Given the description of an element on the screen output the (x, y) to click on. 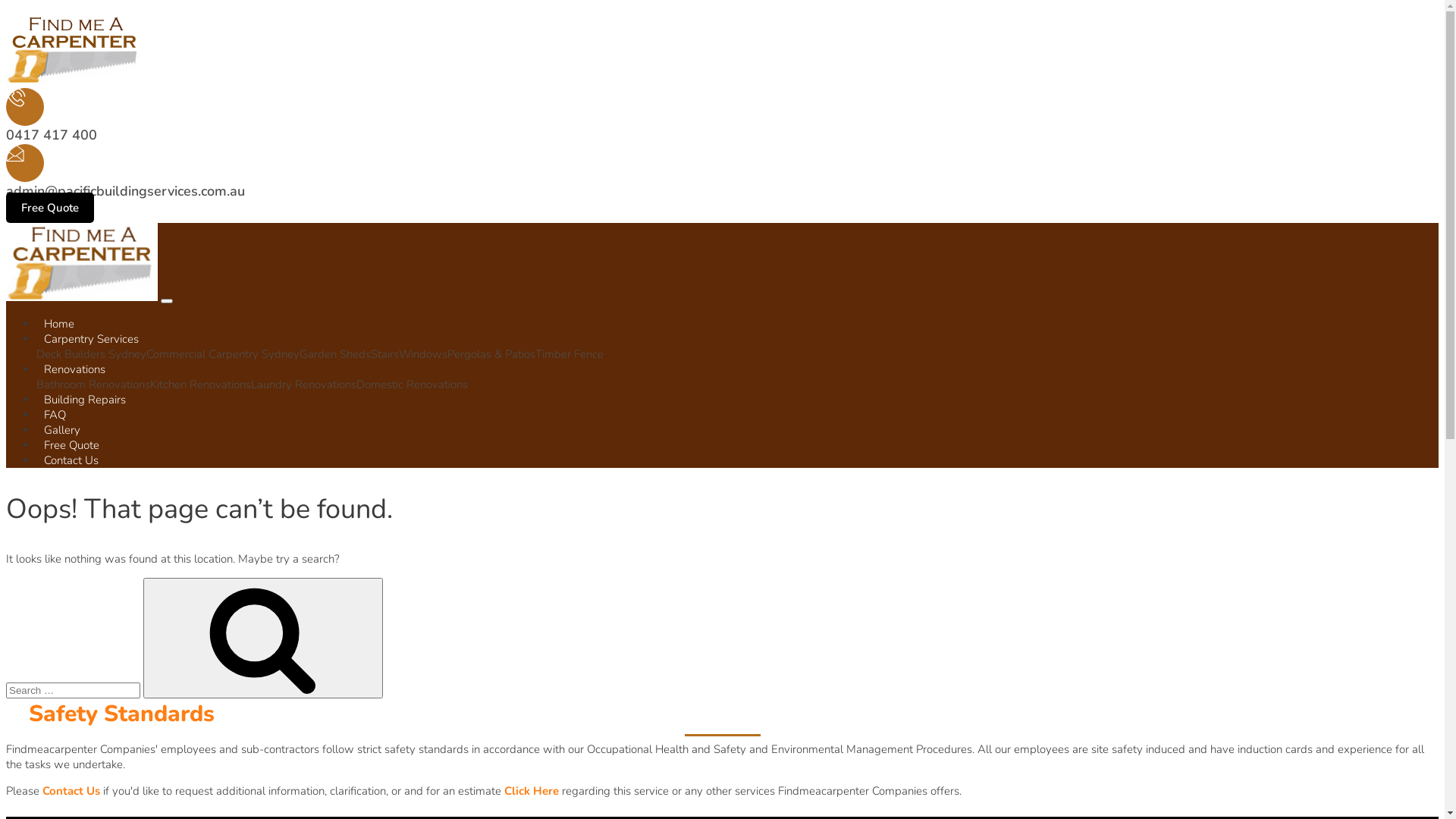
Pergolas & Patios Element type: text (491, 353)
Carpentry Services Element type: text (91, 338)
Home Element type: text (58, 323)
FAQ Element type: text (54, 414)
Click Here Element type: text (531, 790)
Commercial Carpentry Sydney Element type: text (222, 353)
Stairs Element type: text (384, 353)
Renovations Element type: text (74, 369)
Contact Us Element type: text (71, 790)
Building Repairs Element type: text (84, 399)
Bathroom Renovations Element type: text (93, 384)
Deck Builders Sydney Element type: text (91, 353)
Domestic Renovations Element type: text (411, 384)
Laundry Renovations Element type: text (303, 384)
0417 417 400 Element type: text (51, 134)
Gallery Element type: text (61, 429)
Search Element type: text (262, 637)
Garden Sheds Element type: text (334, 353)
Free Quote Element type: text (71, 445)
admin@pacificbuildingservices.com.au Element type: text (125, 191)
Timber Fence Element type: text (569, 353)
Kitchen Renovations Element type: text (200, 384)
Windows Element type: text (422, 353)
Free Quote Element type: text (50, 207)
Contact Us Element type: text (71, 460)
